Given the description of an element on the screen output the (x, y) to click on. 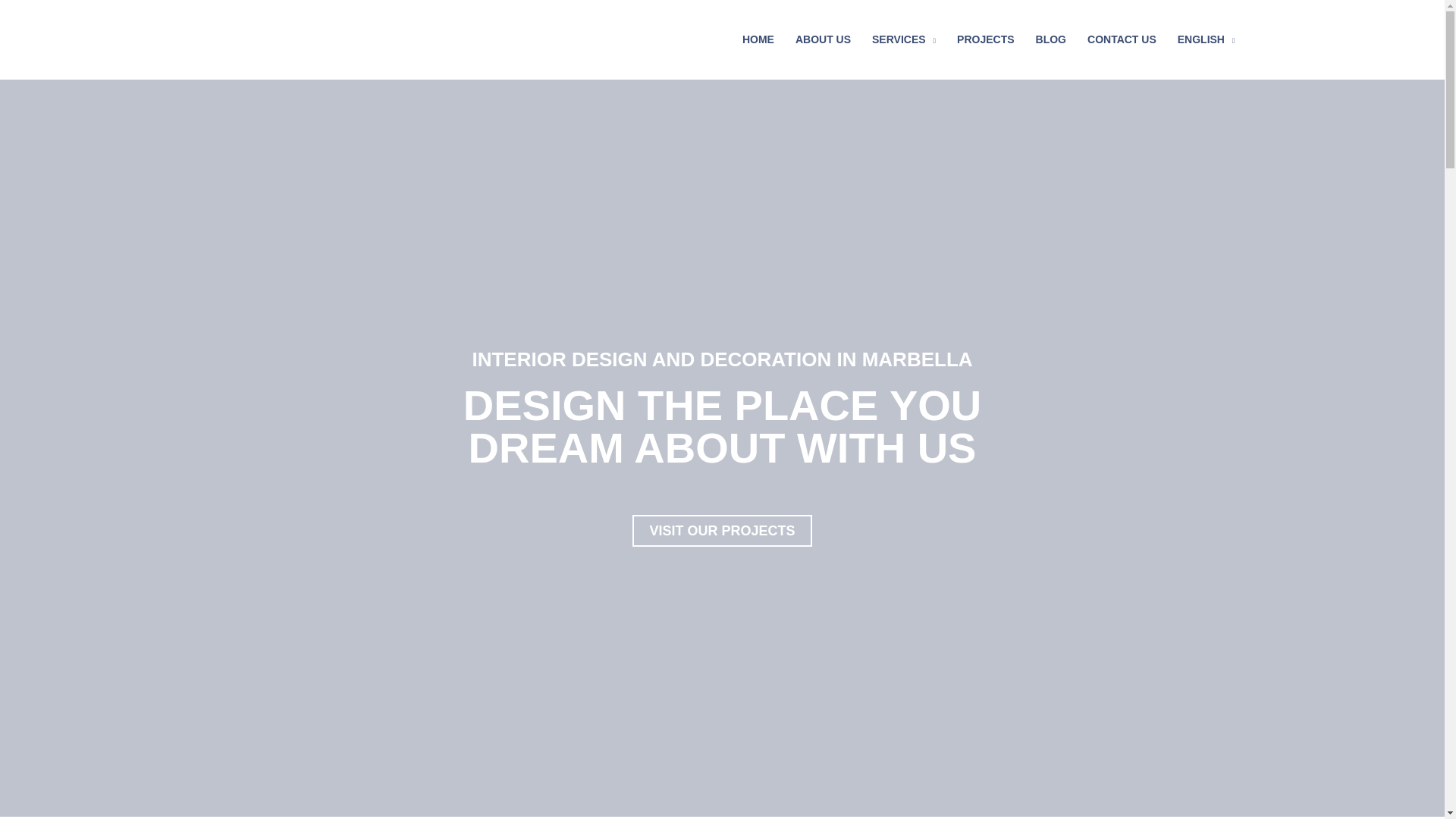
CONTACT US (1122, 39)
ABOUT US (822, 39)
BLOG (1051, 39)
English (1206, 39)
SERVICES (903, 39)
VISIT OUR PROJECTS (720, 531)
ENGLISH (1206, 39)
HOME (758, 39)
PROJECTS (985, 39)
